Given the description of an element on the screen output the (x, y) to click on. 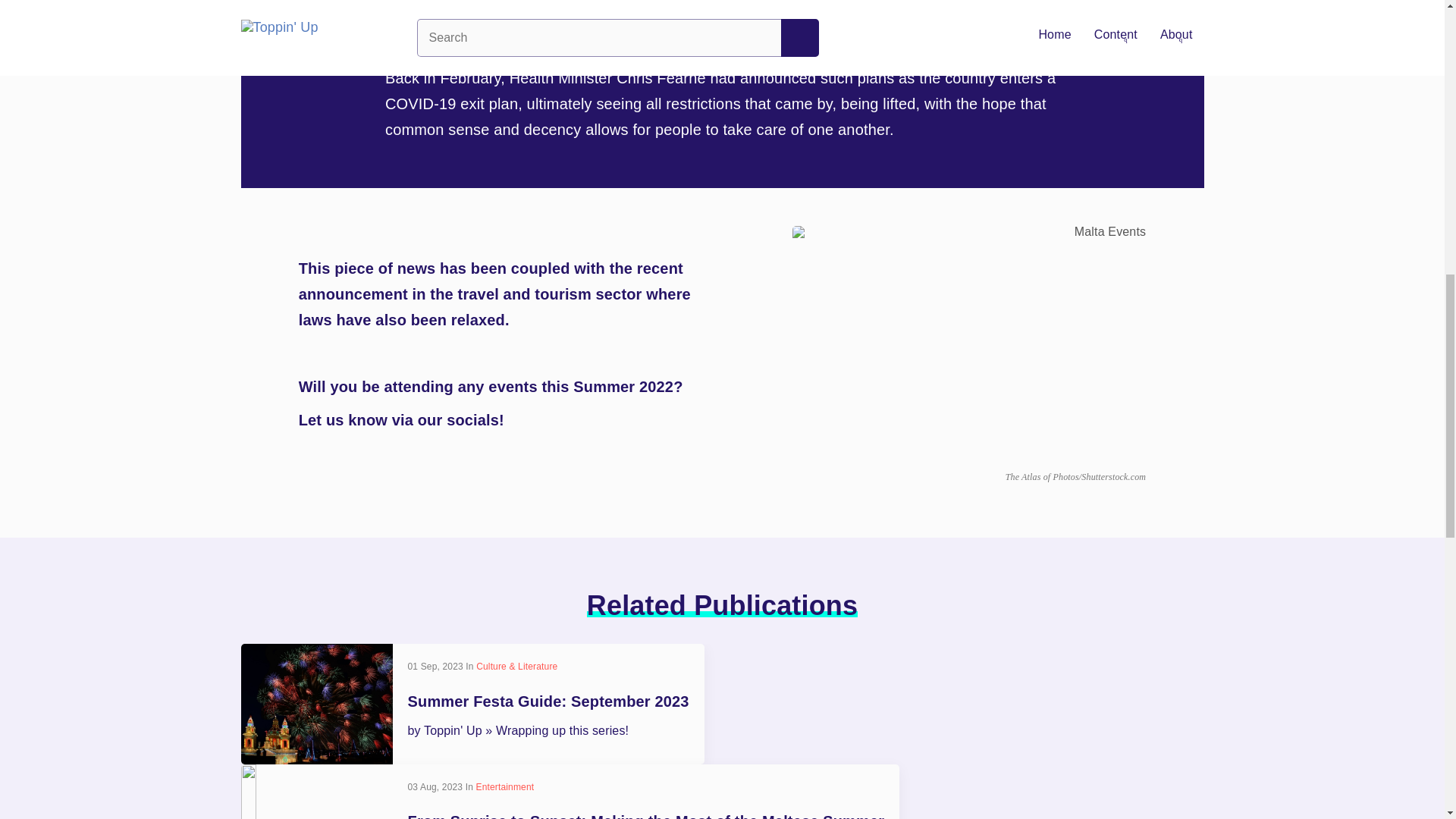
Malta Events (968, 343)
Entertainment (505, 786)
